Given the description of an element on the screen output the (x, y) to click on. 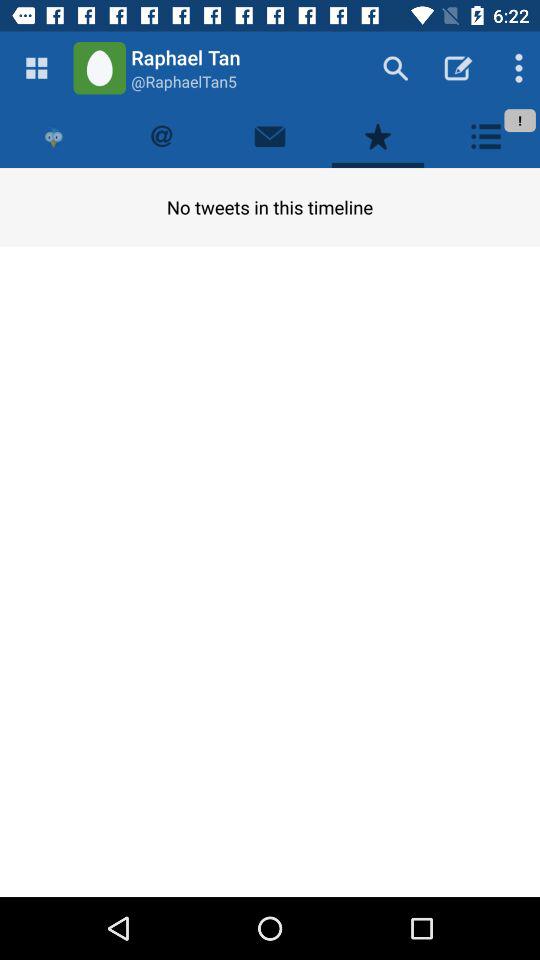
favourited tweets (378, 136)
